Given the description of an element on the screen output the (x, y) to click on. 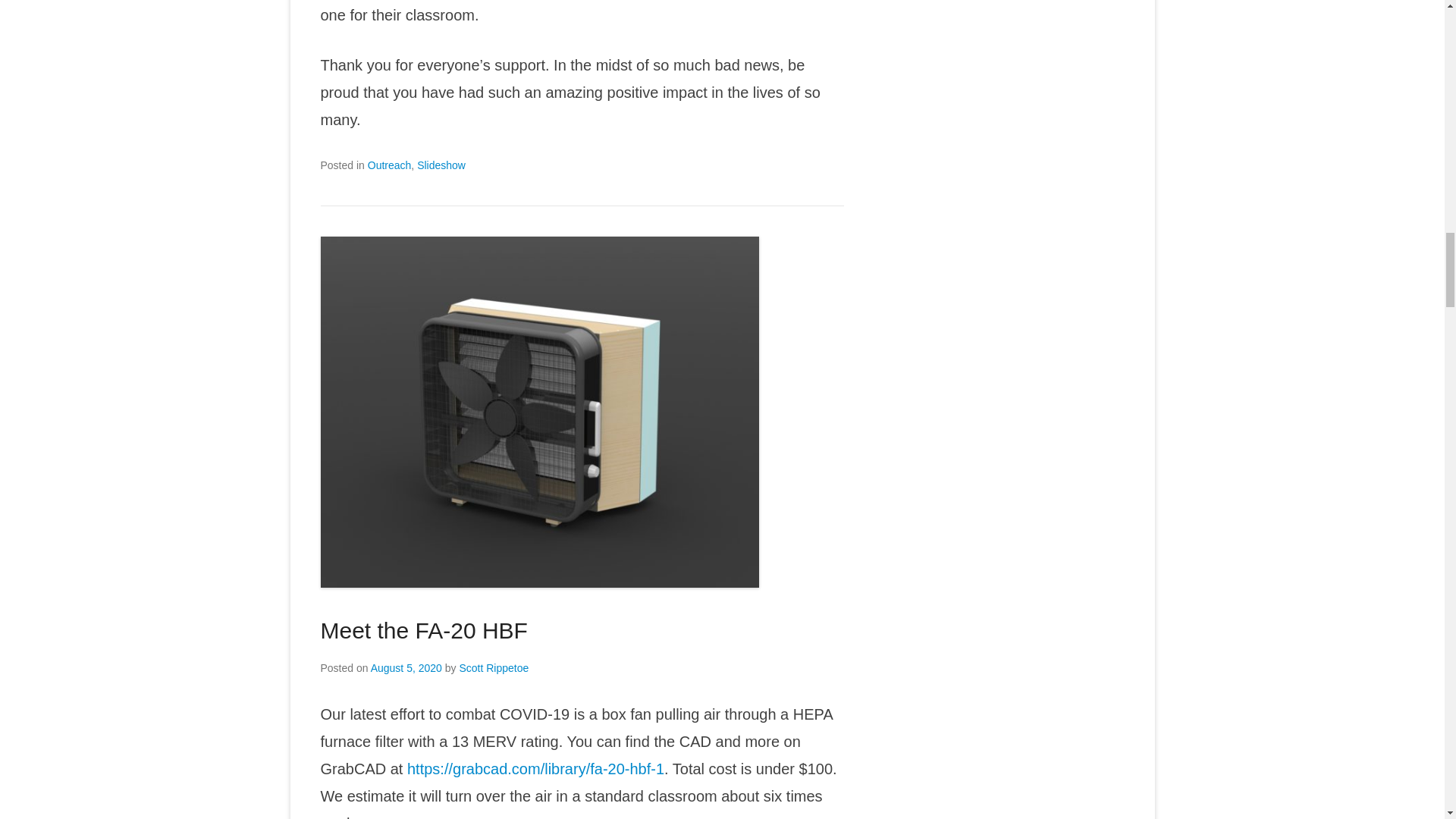
View all posts by Scott Rippetoe (493, 667)
9:21 am (406, 667)
